Given the description of an element on the screen output the (x, y) to click on. 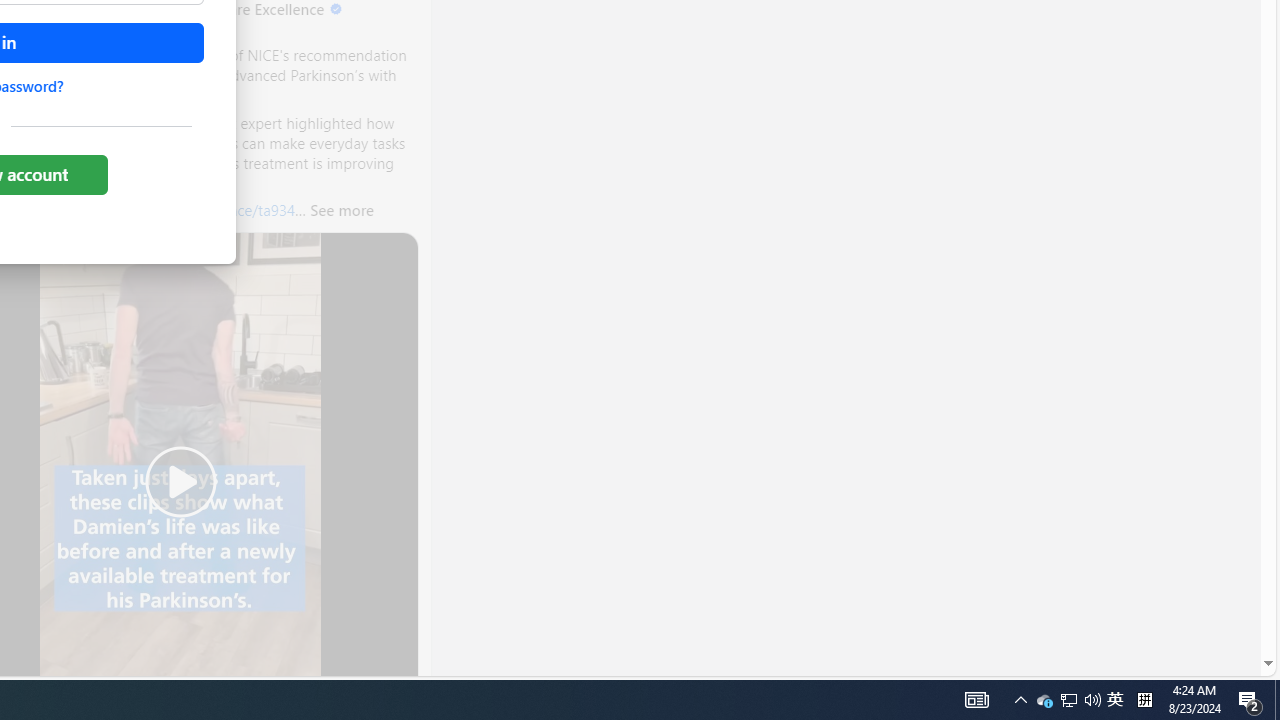
Notification Chevron (1020, 699)
Show desktop (1115, 699)
AutomationID: 4105 (1277, 699)
Q2790: 100% (976, 699)
Tray Input Indicator - Chinese (Simplified, China) (1092, 699)
Action Center, 2 new notifications (1144, 699)
User Promoted Notification Area (1250, 699)
